Given the description of an element on the screen output the (x, y) to click on. 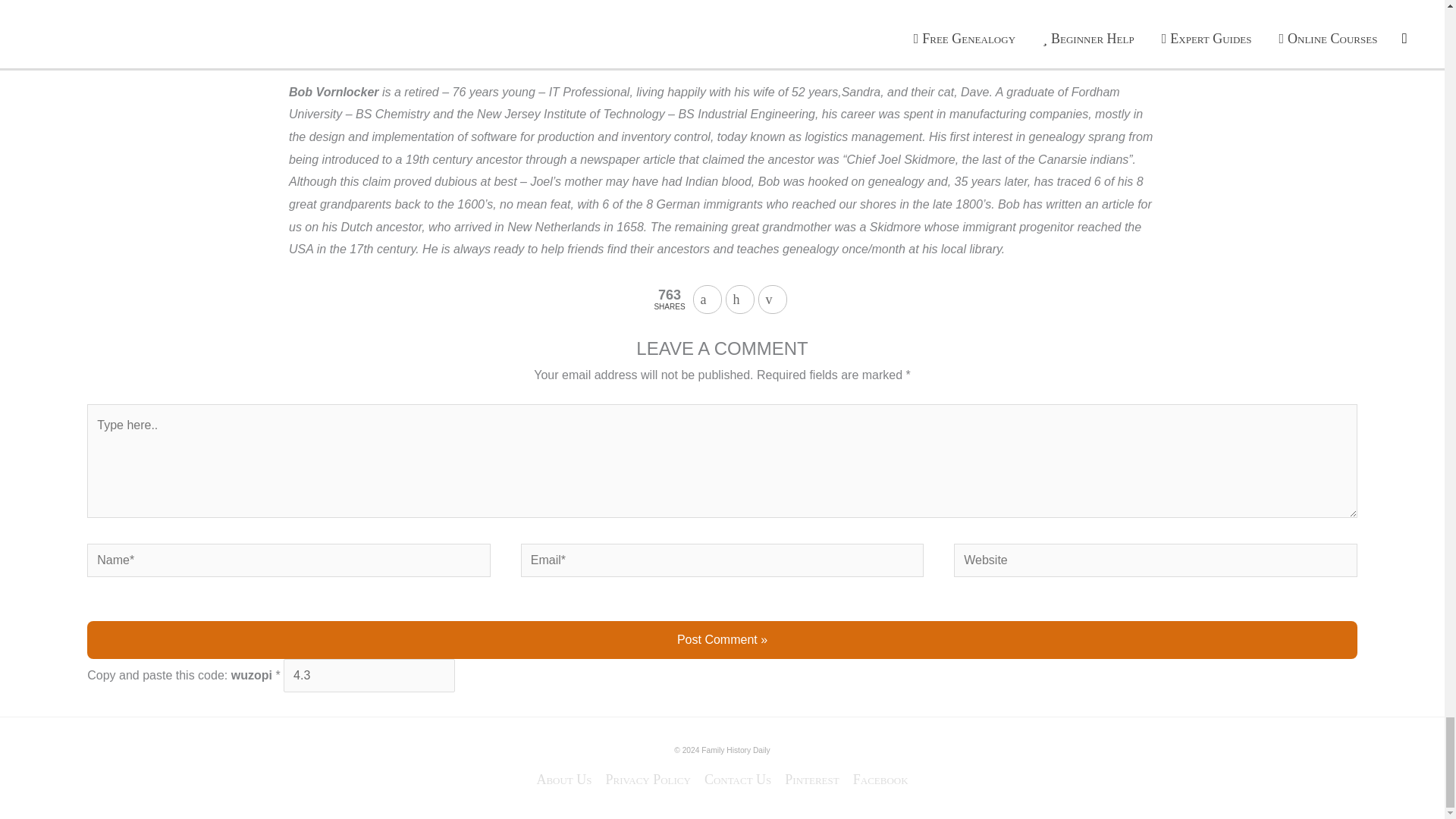
Facebook (876, 779)
4.3 (368, 675)
Privacy Policy (647, 779)
Pinterest (811, 779)
Share on Pinterest (739, 299)
About Us (566, 779)
Share on Facebook (707, 299)
Contact Us (737, 779)
Share on Email (772, 299)
